Given the description of an element on the screen output the (x, y) to click on. 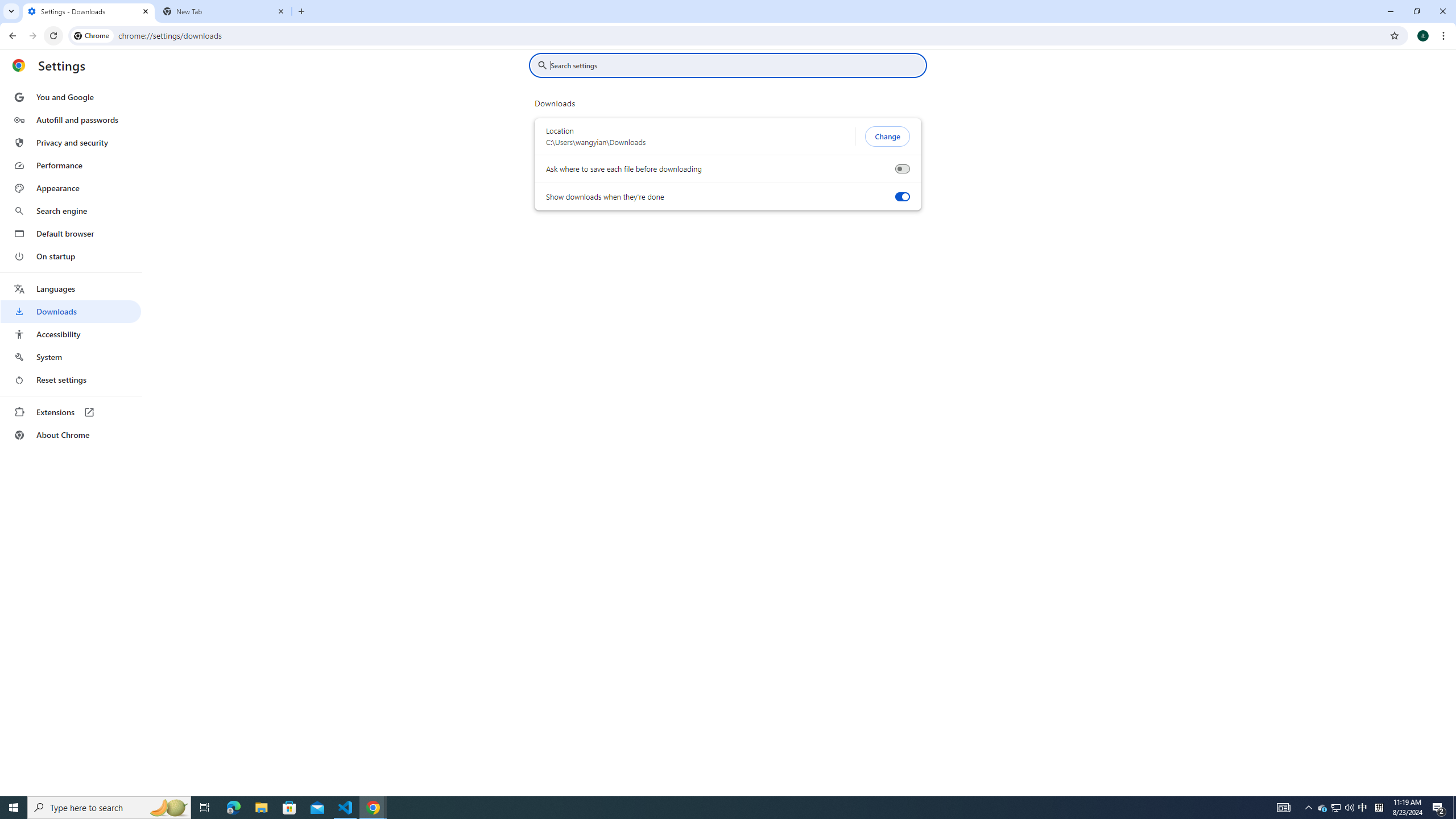
Address and search bar (750, 35)
Reset settings (70, 379)
About Chrome (70, 434)
Search engine (70, 210)
Appearance (70, 187)
You and Google (70, 96)
On startup (70, 255)
Performance (70, 164)
